Given the description of an element on the screen output the (x, y) to click on. 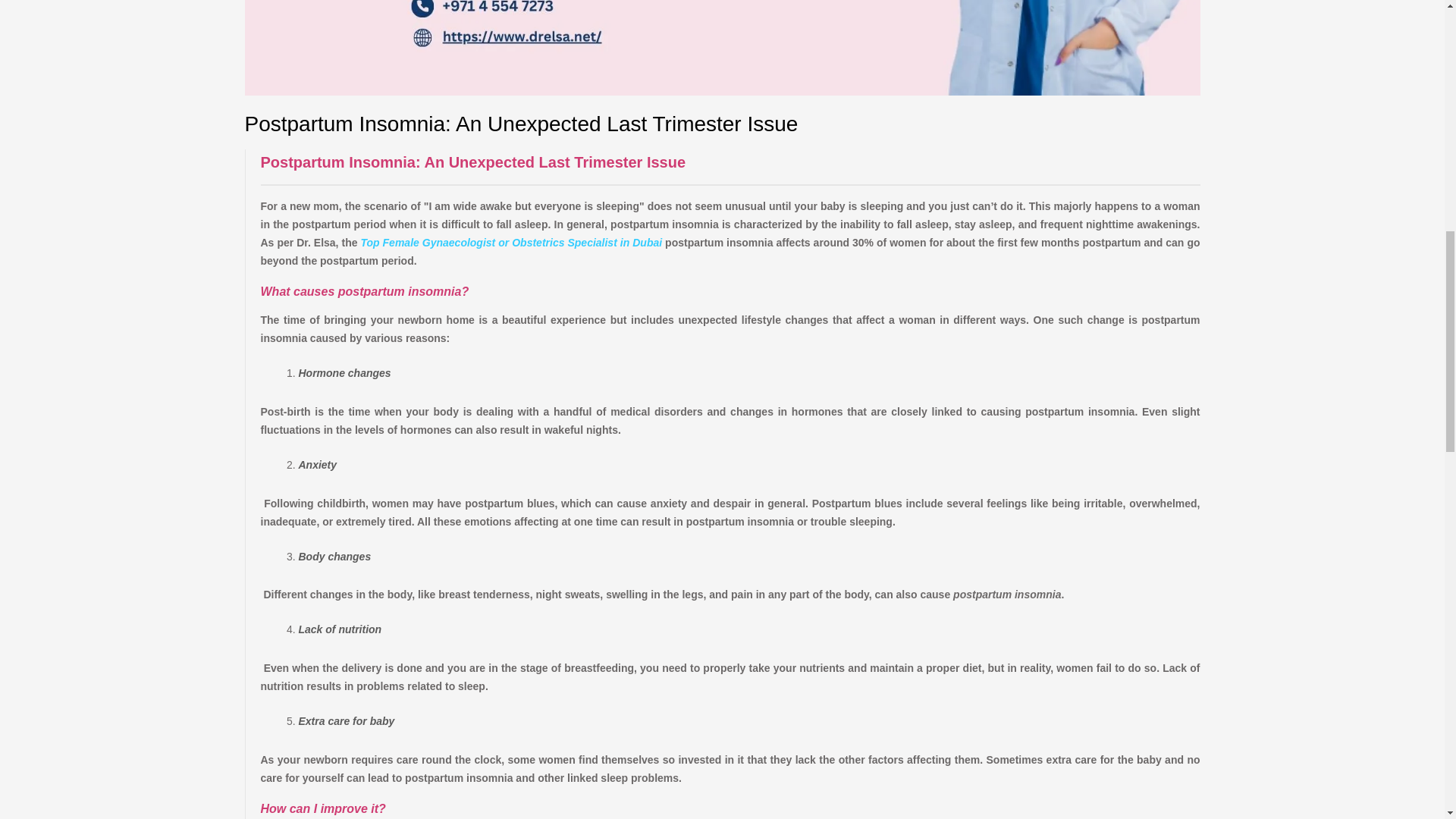
Top Female Gynaecologist or Obstetrics Specialist in Dubai (509, 242)
